Given the description of an element on the screen output the (x, y) to click on. 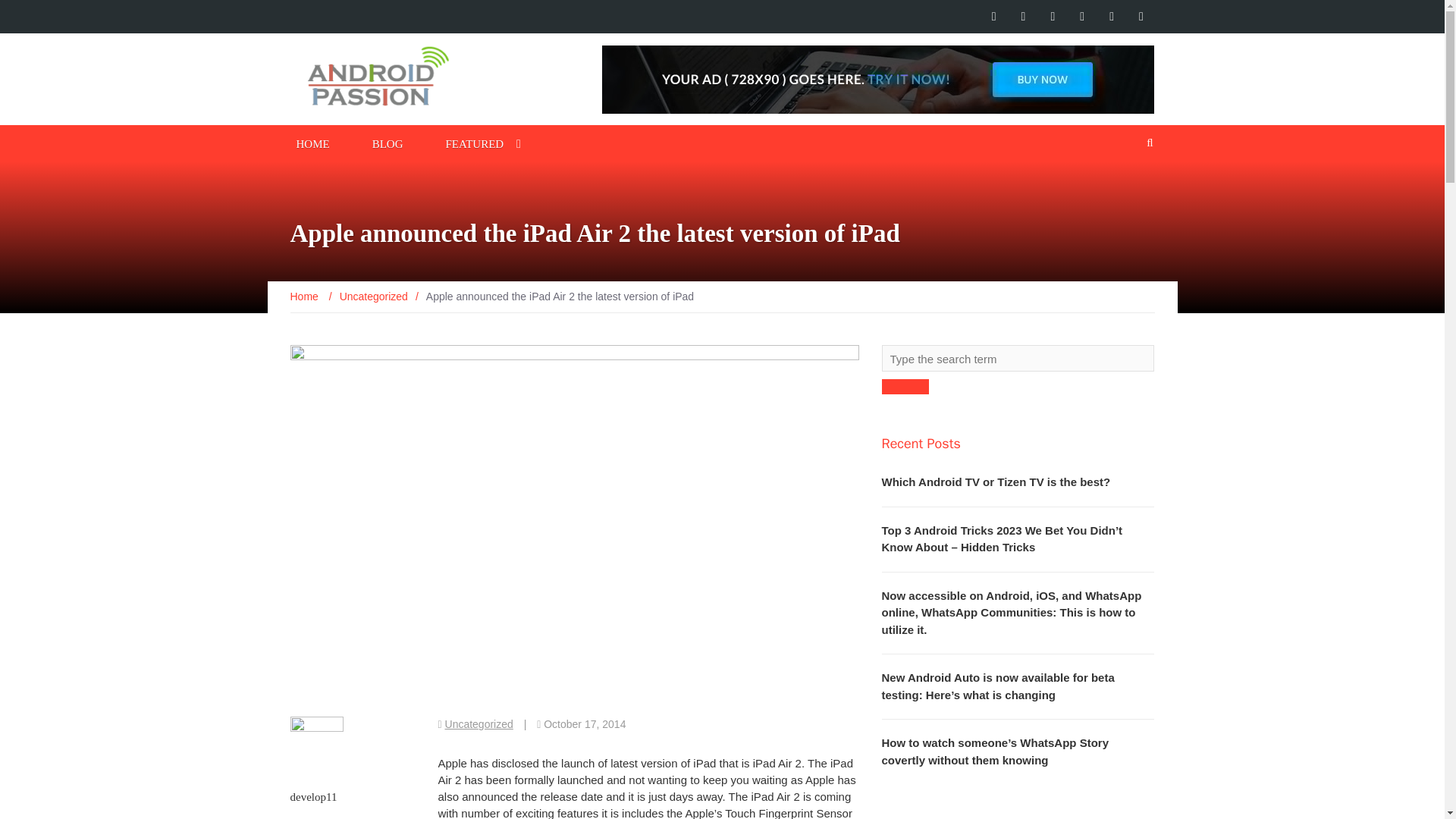
FEATURED (475, 142)
Which Android TV or Tizen TV is the best? (994, 481)
Uncategorized (373, 296)
Uncategorized (479, 724)
BLOG (387, 142)
develop11 (312, 797)
Home (304, 296)
Posts by develop11 (312, 797)
HOME (311, 142)
